Given the description of an element on the screen output the (x, y) to click on. 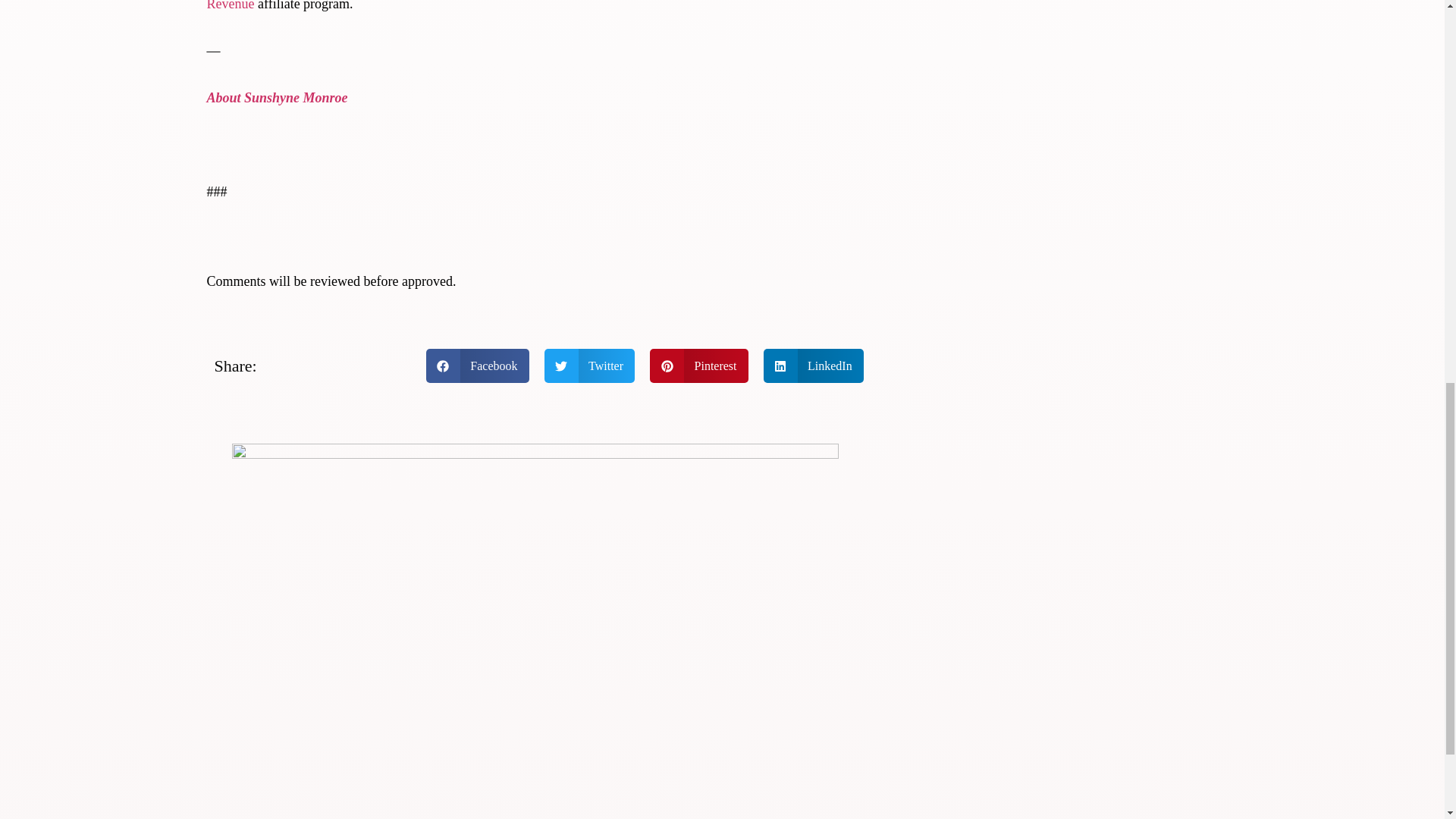
About Sunshyne Monroe (276, 97)
SMC Revenue (525, 5)
